Given the description of an element on the screen output the (x, y) to click on. 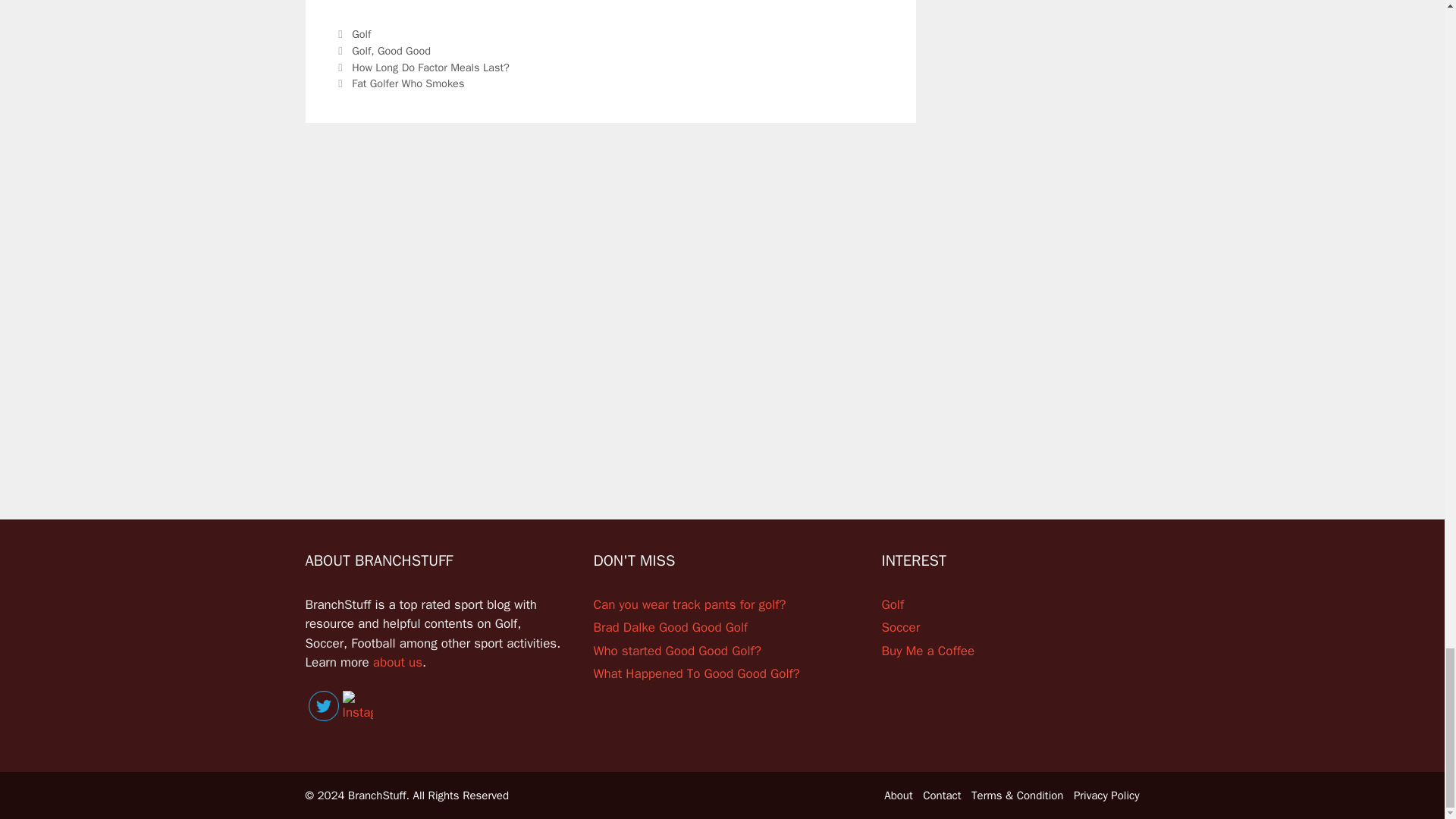
Brad Dalke Good Good Golf (670, 627)
Good Good (403, 50)
Fat Golfer Who Smokes  (409, 83)
Who started Good Good Golf? (676, 650)
What Happened To Good Good Golf? (695, 673)
Golf (361, 50)
Golf (361, 33)
Instagram (357, 706)
Can you wear track pants for golf? (689, 604)
How Long Do Factor Meals Last? (430, 67)
